Given the description of an element on the screen output the (x, y) to click on. 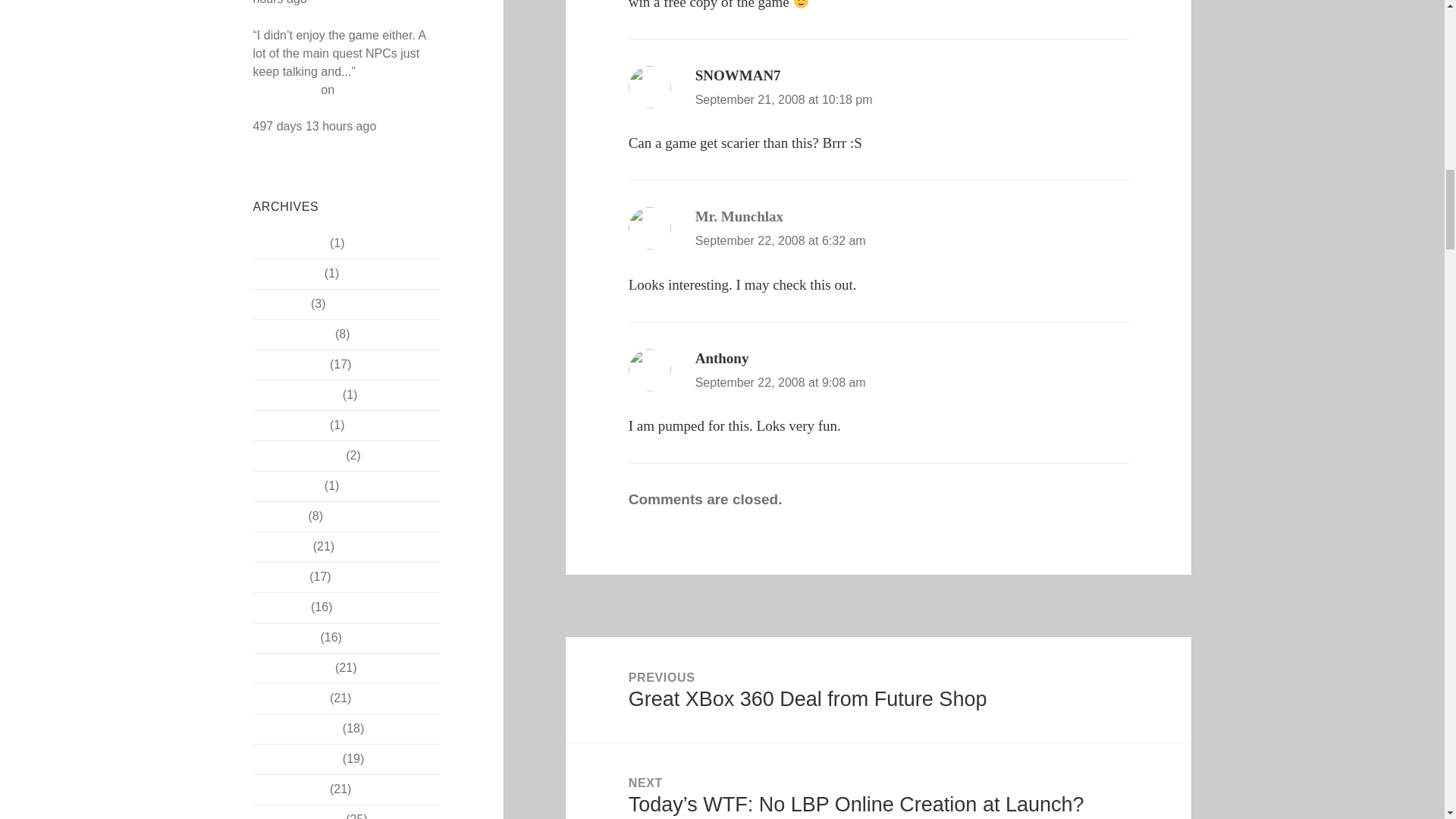
August 2014 (287, 485)
January 2014 (289, 697)
GamerSushi Asks: Why Do You Like The Witcher 3? (345, 98)
February 2016 (292, 333)
August 2016 (287, 273)
March 2014 (285, 636)
April 2014 (280, 606)
November 2015 (296, 394)
February 2014 (292, 667)
September 2014 (297, 454)
June 2014 (281, 545)
July 2014 (279, 515)
May 2014 (279, 576)
Shane Steinhauser (323, 80)
